Given the description of an element on the screen output the (x, y) to click on. 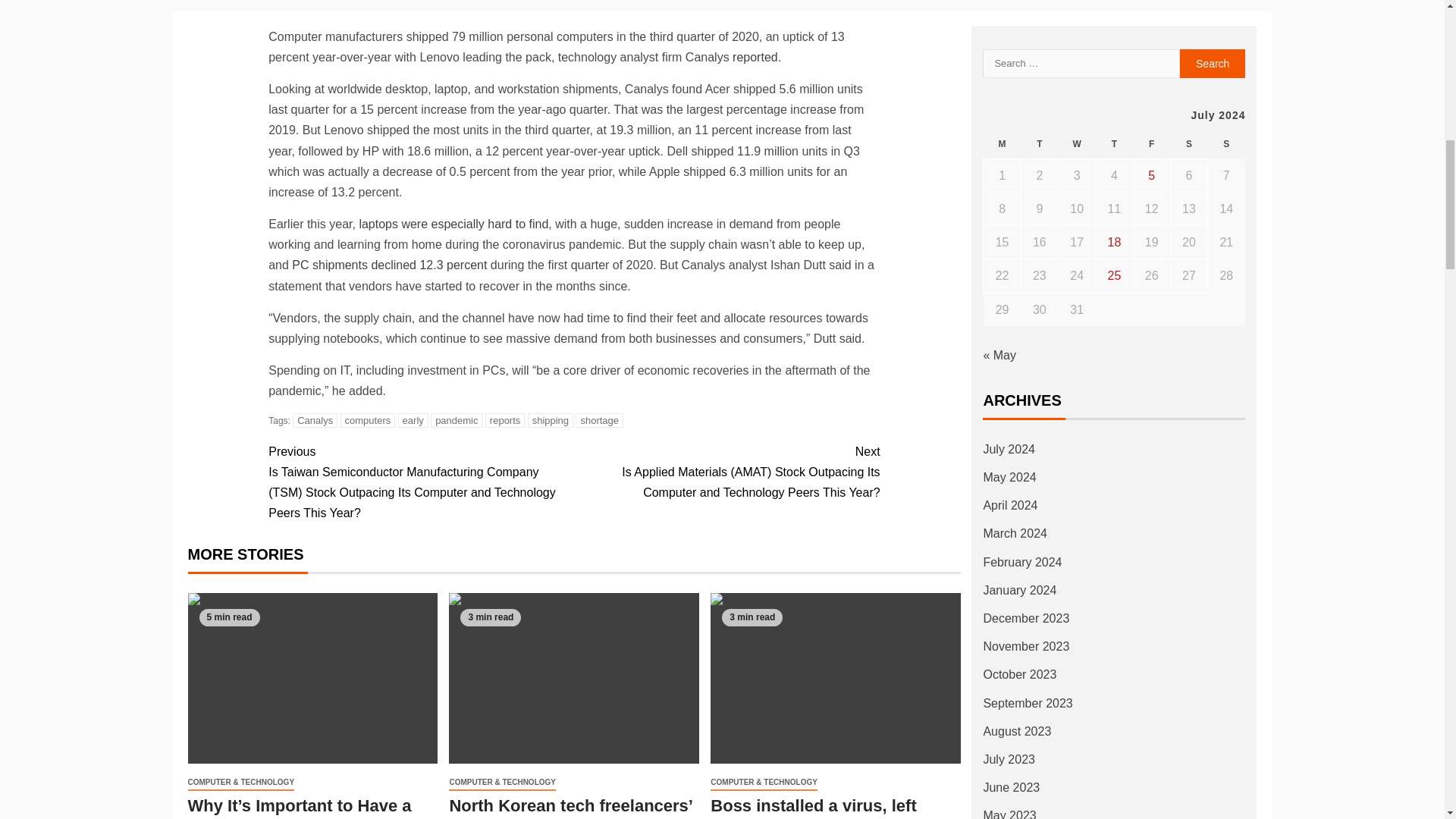
Saturday (1188, 144)
Search (1212, 63)
shipping (550, 420)
laptops were especially hard to find (453, 223)
Wednesday (1077, 144)
reports (504, 420)
pandemic (455, 420)
Monday (1002, 144)
reported (754, 56)
Canalys (314, 420)
shortage (599, 420)
Search (1212, 63)
Friday (1151, 144)
computers (368, 420)
Thursday (1114, 144)
